Given the description of an element on the screen output the (x, y) to click on. 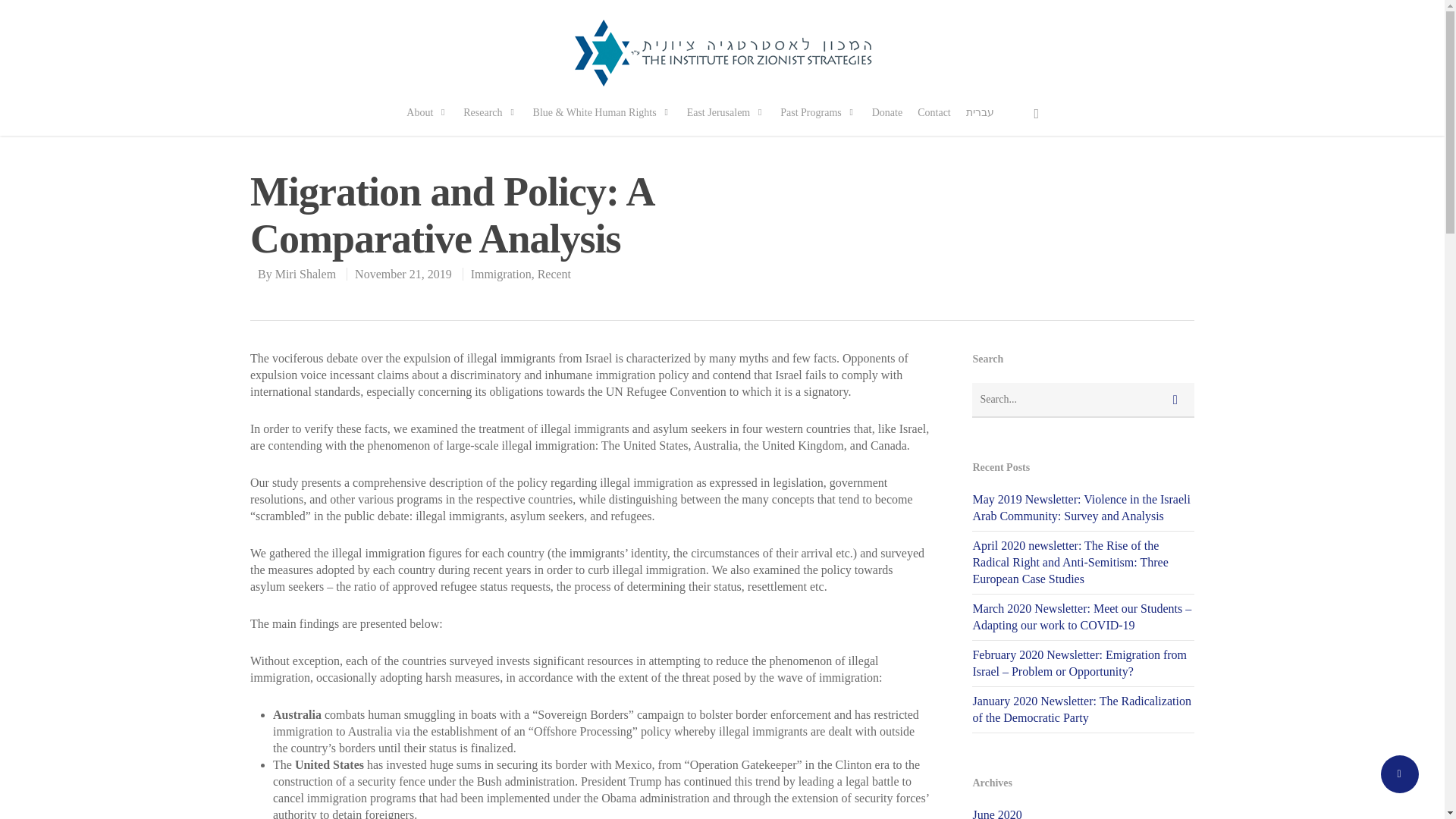
Contact (933, 120)
Posts by Miri Shalem (305, 273)
East Jerusalem (726, 120)
Past Programs (818, 120)
Search for: (1082, 400)
Research (489, 120)
Donate (887, 120)
About (427, 120)
